Given the description of an element on the screen output the (x, y) to click on. 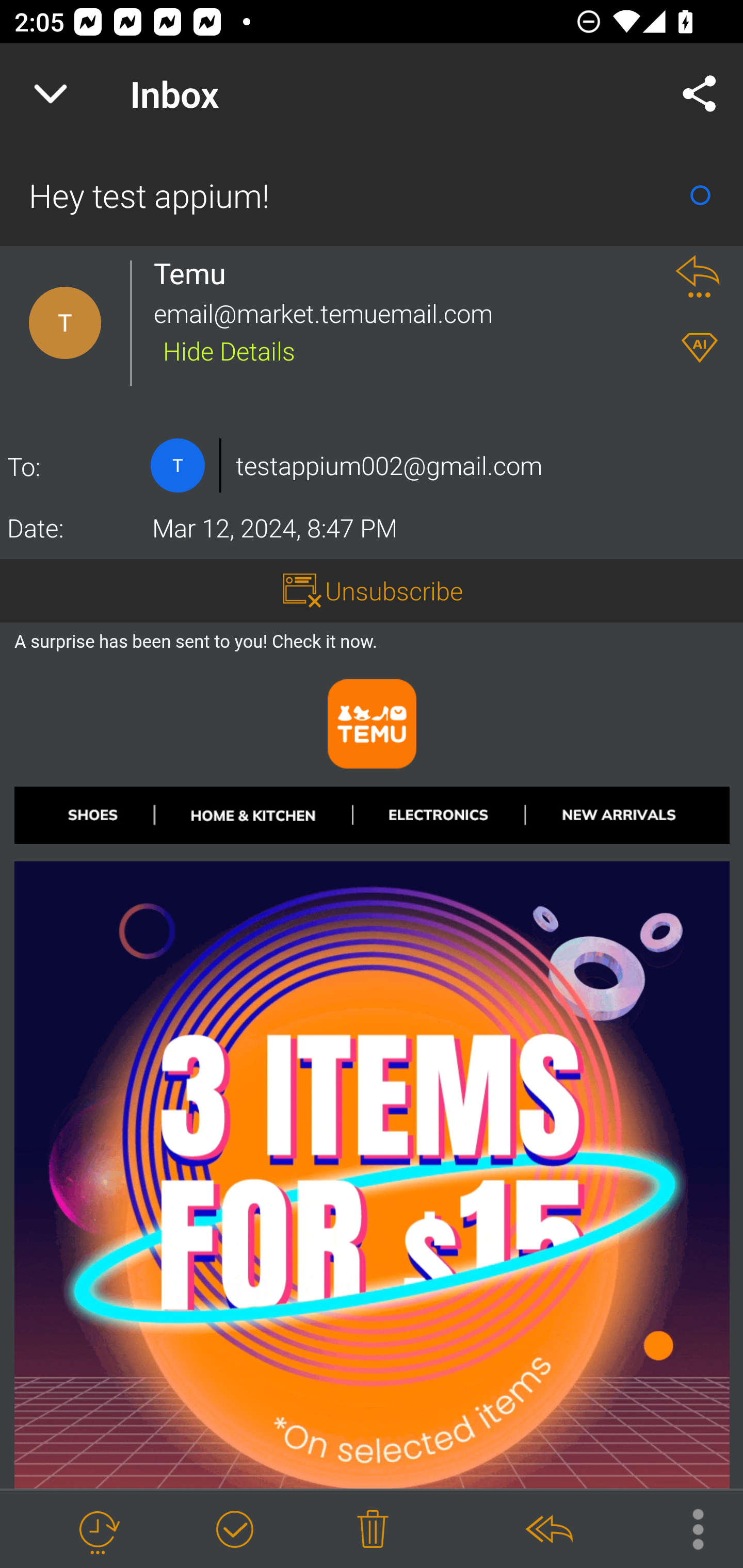
Navigate up (50, 93)
Share (699, 93)
Mark as Read (699, 194)
Temu (195, 273)
Contact Details (64, 322)
Hide Details (228, 349)
Contact Details (177, 465)
testappium002@gmail.com (388, 465)
Unsubscribe (393, 590)
b57e34972bcbfa1b19ebc9d9493bcf96 (372, 1107)
More Options (687, 1528)
Snooze (97, 1529)
Mark as Done (234, 1529)
Delete (372, 1529)
Reply All (548, 1529)
